Given the description of an element on the screen output the (x, y) to click on. 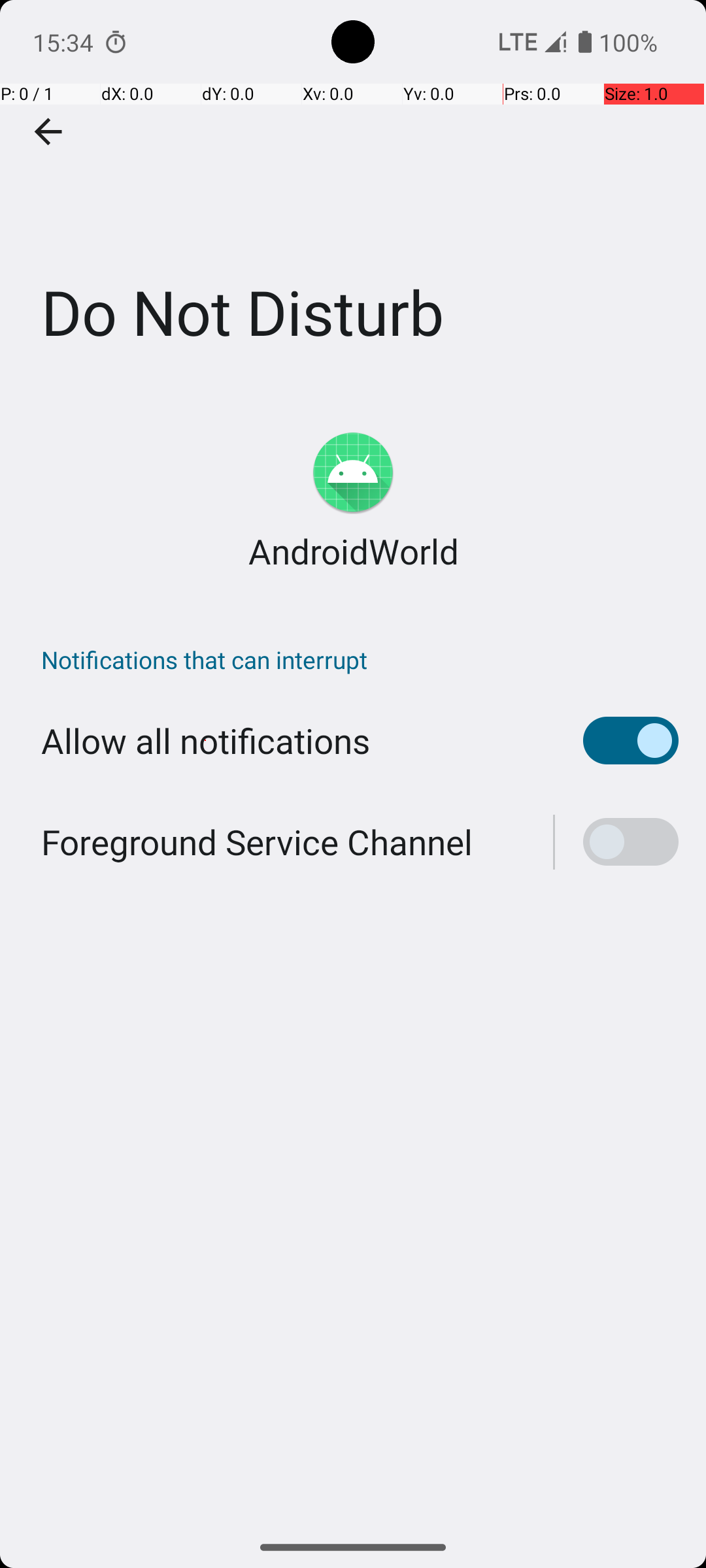
AndroidWorld Element type: android.widget.TextView (352, 550)
Notifications that can interrupt Element type: android.widget.TextView (359, 659)
Allow all notifications Element type: android.widget.TextView (205, 740)
Foreground Service Channel Element type: android.widget.TextView (256, 841)
